Given the description of an element on the screen output the (x, y) to click on. 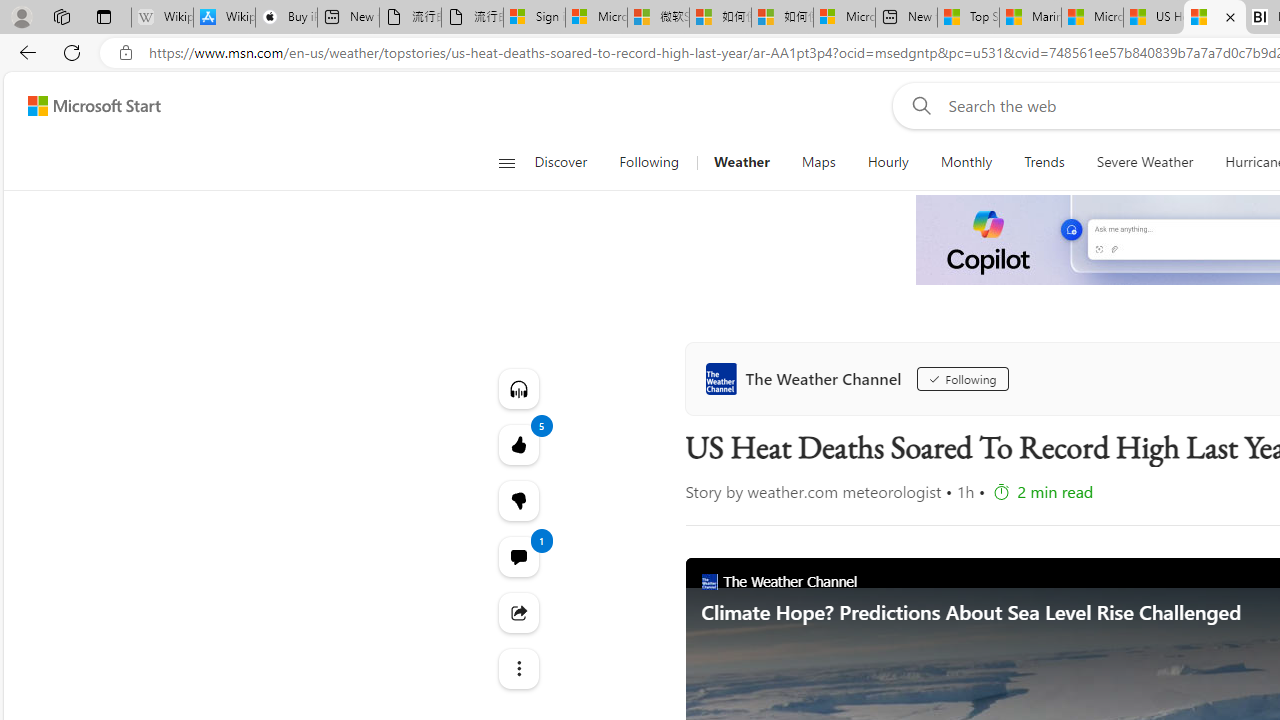
US Heat Deaths Soared To Record High Last Year (1215, 17)
Microsoft Start (94, 105)
Monthly (966, 162)
Severe Weather (1144, 162)
Web search (917, 105)
Class: button-glyph (505, 162)
5 Like (517, 444)
5 (517, 500)
Wikipedia - Sleeping (162, 17)
Skip to content (86, 105)
Following (648, 162)
Tab actions menu (104, 16)
Refresh (72, 52)
Back (24, 52)
